Given the description of an element on the screen output the (x, y) to click on. 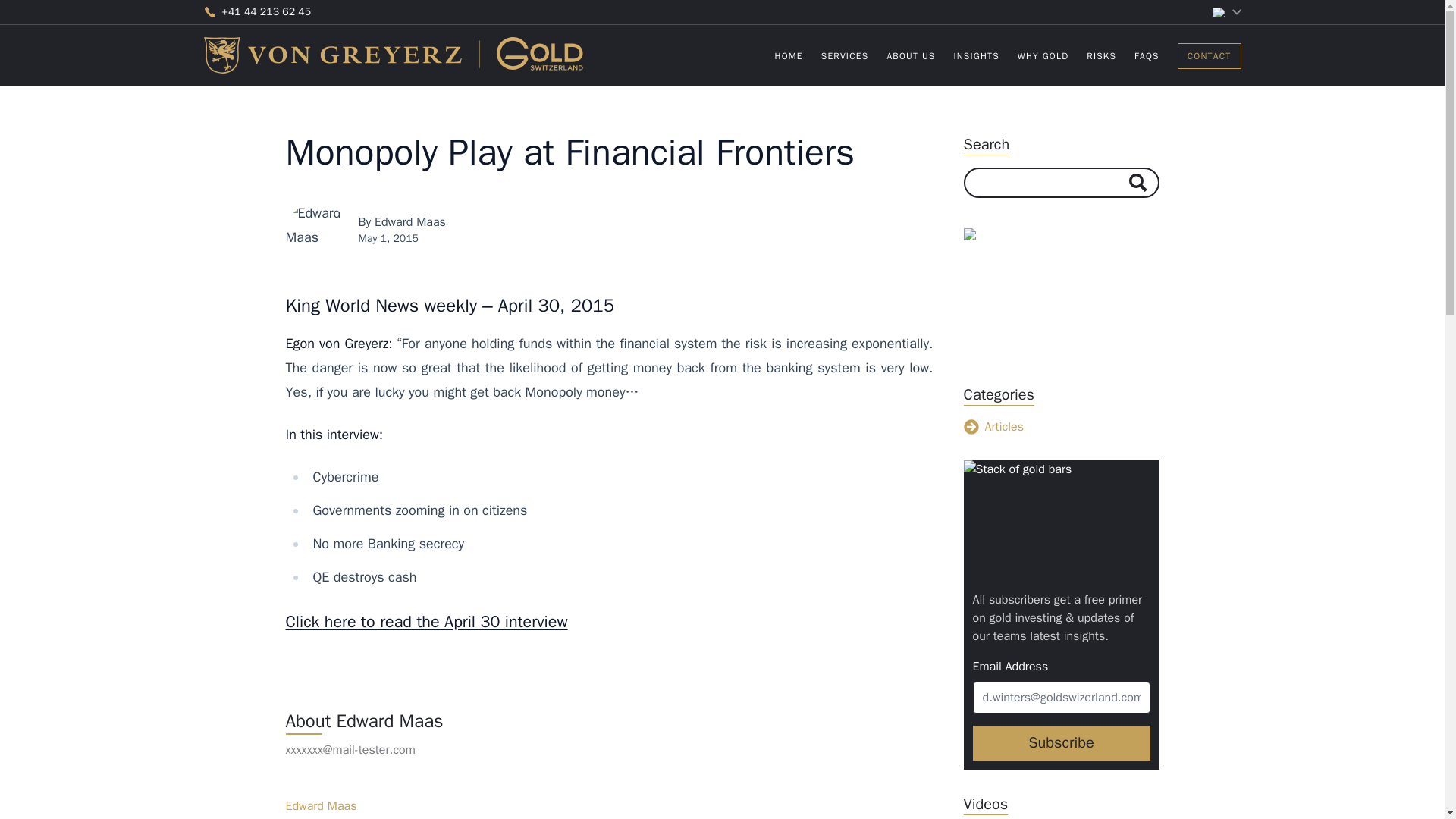
HOME (788, 55)
WHY GOLD (1042, 55)
ABOUT US (910, 55)
Edward Maas (409, 222)
CONTACT (1007, 54)
Articles (1209, 54)
INSIGHTS (1060, 426)
Click here to read the April 30 interview (975, 55)
Subscribe (426, 620)
RISKS (1061, 742)
FAQS (1101, 55)
SERVICES (1146, 55)
